Given the description of an element on the screen output the (x, y) to click on. 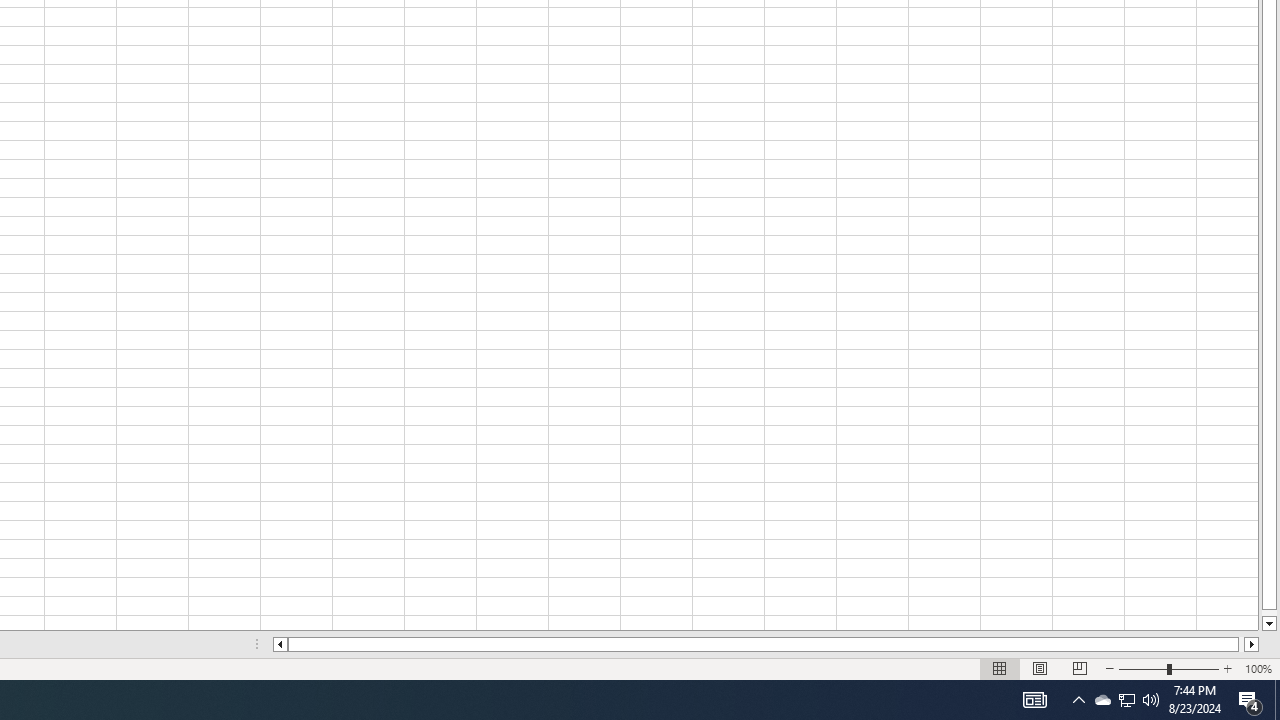
AutomationID: 4105 (1102, 699)
